Given the description of an element on the screen output the (x, y) to click on. 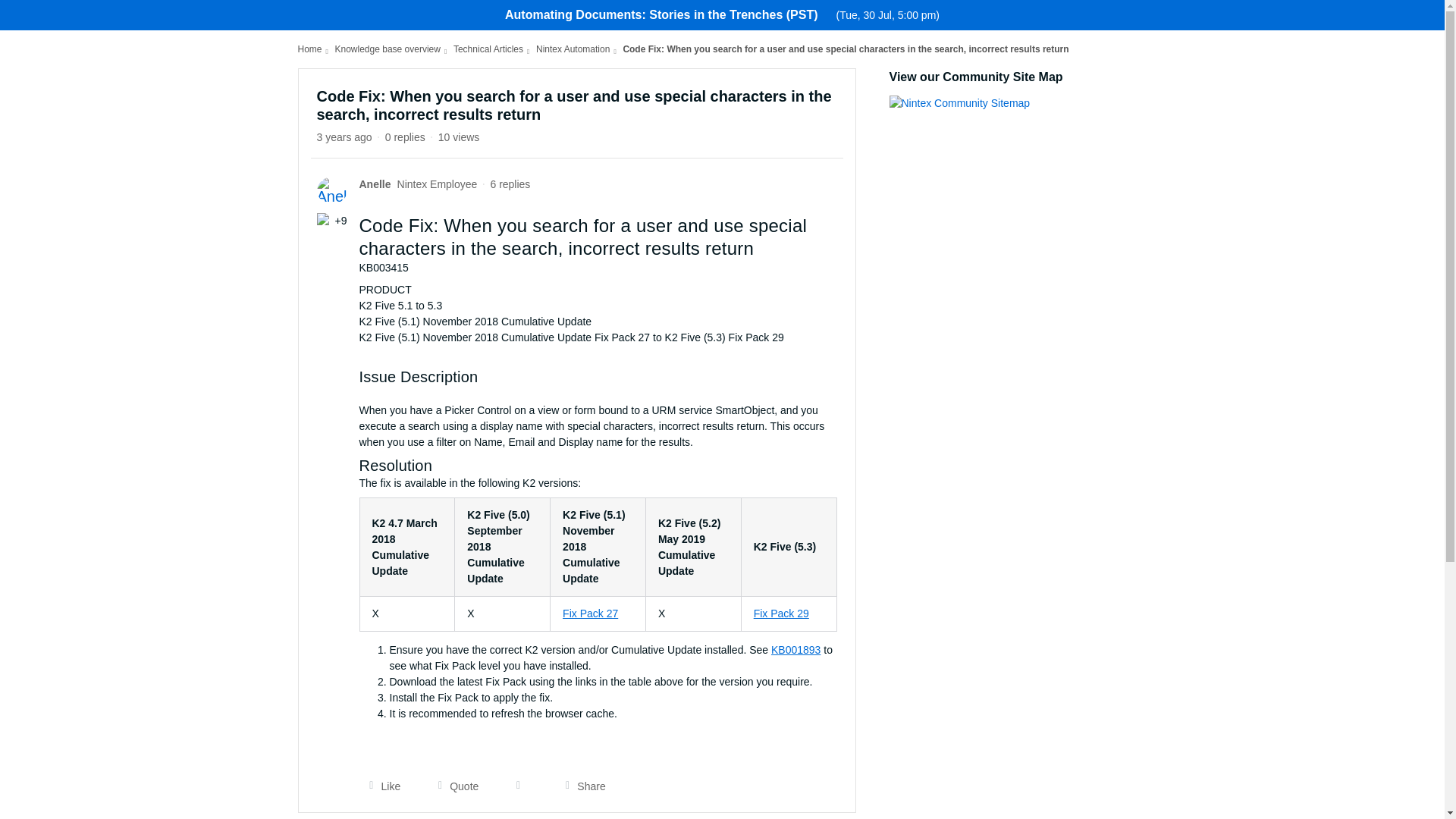
Home (309, 49)
Fix Pack 29 (781, 613)
Anelle (375, 184)
KB001893 (796, 649)
Knowledge base overview (387, 49)
Like (380, 785)
Quote (453, 785)
0 replies (405, 137)
Anelle (375, 184)
Keep it up (324, 220)
Technical Articles (487, 49)
Nintex Automation (572, 49)
Fix Pack 27 (589, 613)
